Given the description of an element on the screen output the (x, y) to click on. 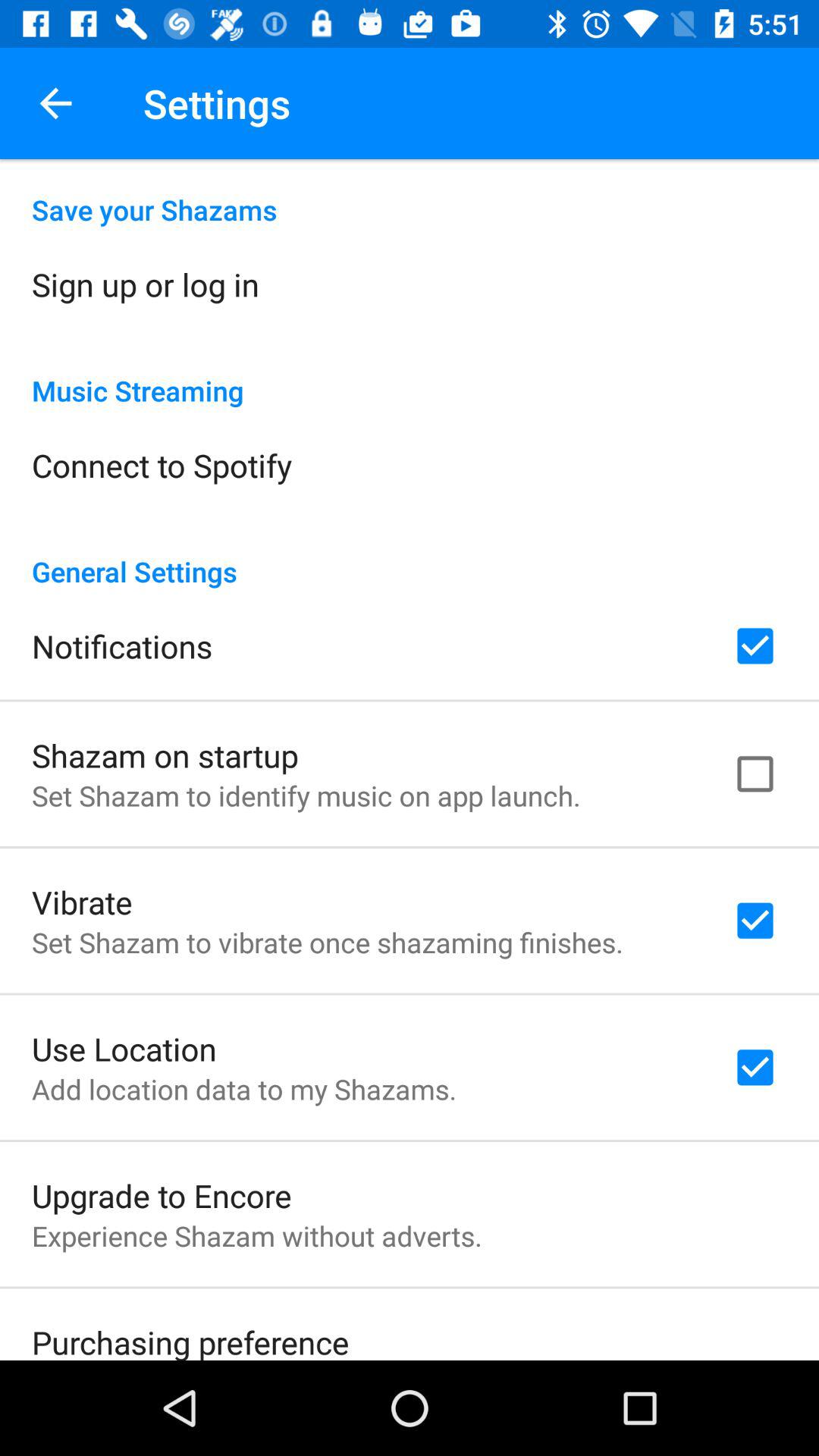
scroll to the notifications icon (121, 645)
